Given the description of an element on the screen output the (x, y) to click on. 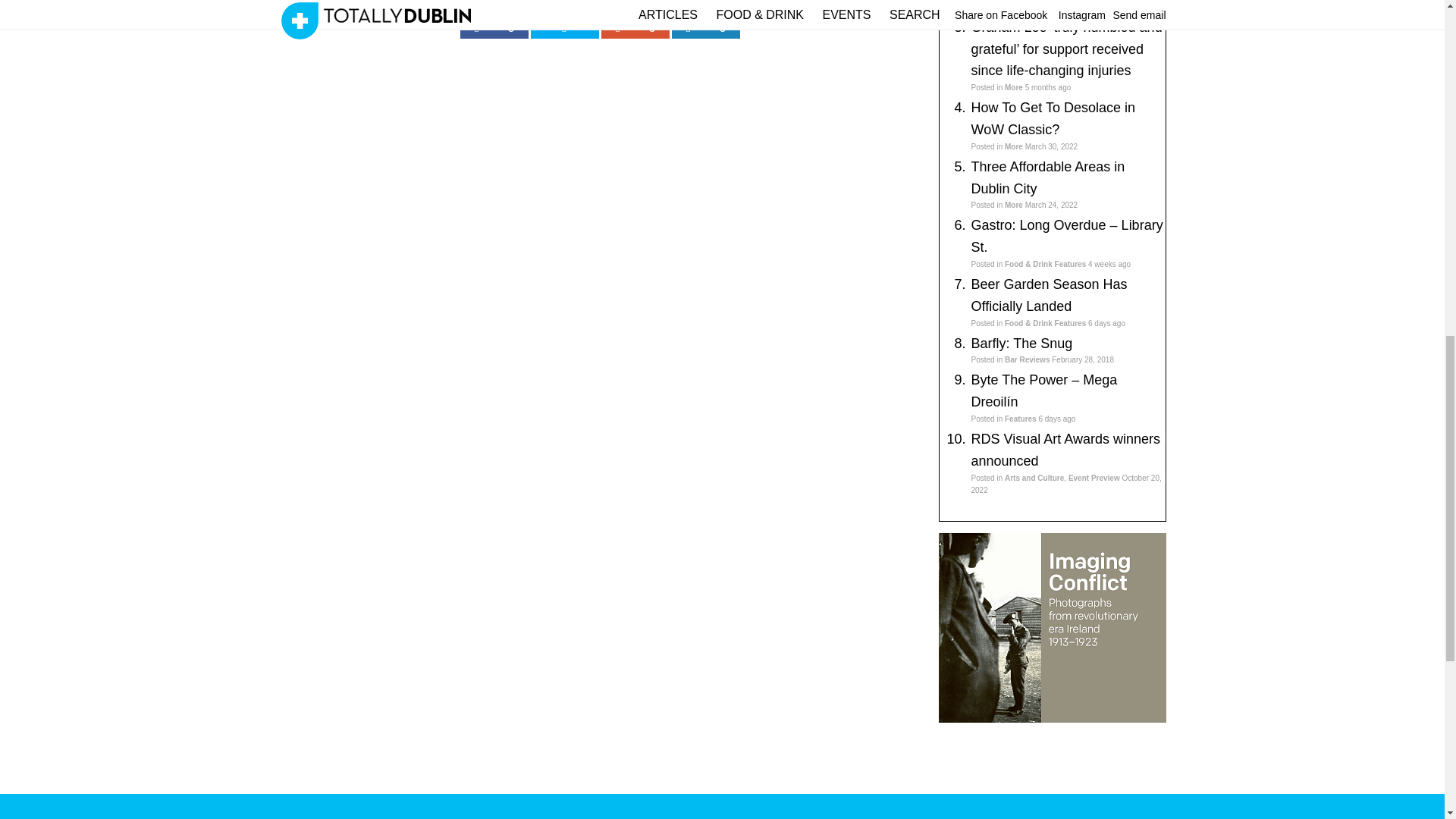
0 (633, 26)
0 (493, 26)
How To Get To Desolace in WoW Classic? (1052, 118)
More (1013, 146)
Three Affordable Areas in Dublin City (1047, 177)
How To Get To Desolace in WoW Classic? (1052, 118)
More (1013, 87)
RDS Visual Art Awards winners announced (1064, 449)
Barfly: The Snug (1021, 343)
Beer Garden Season Has Officially Landed (1048, 294)
0 (705, 26)
